Given the description of an element on the screen output the (x, y) to click on. 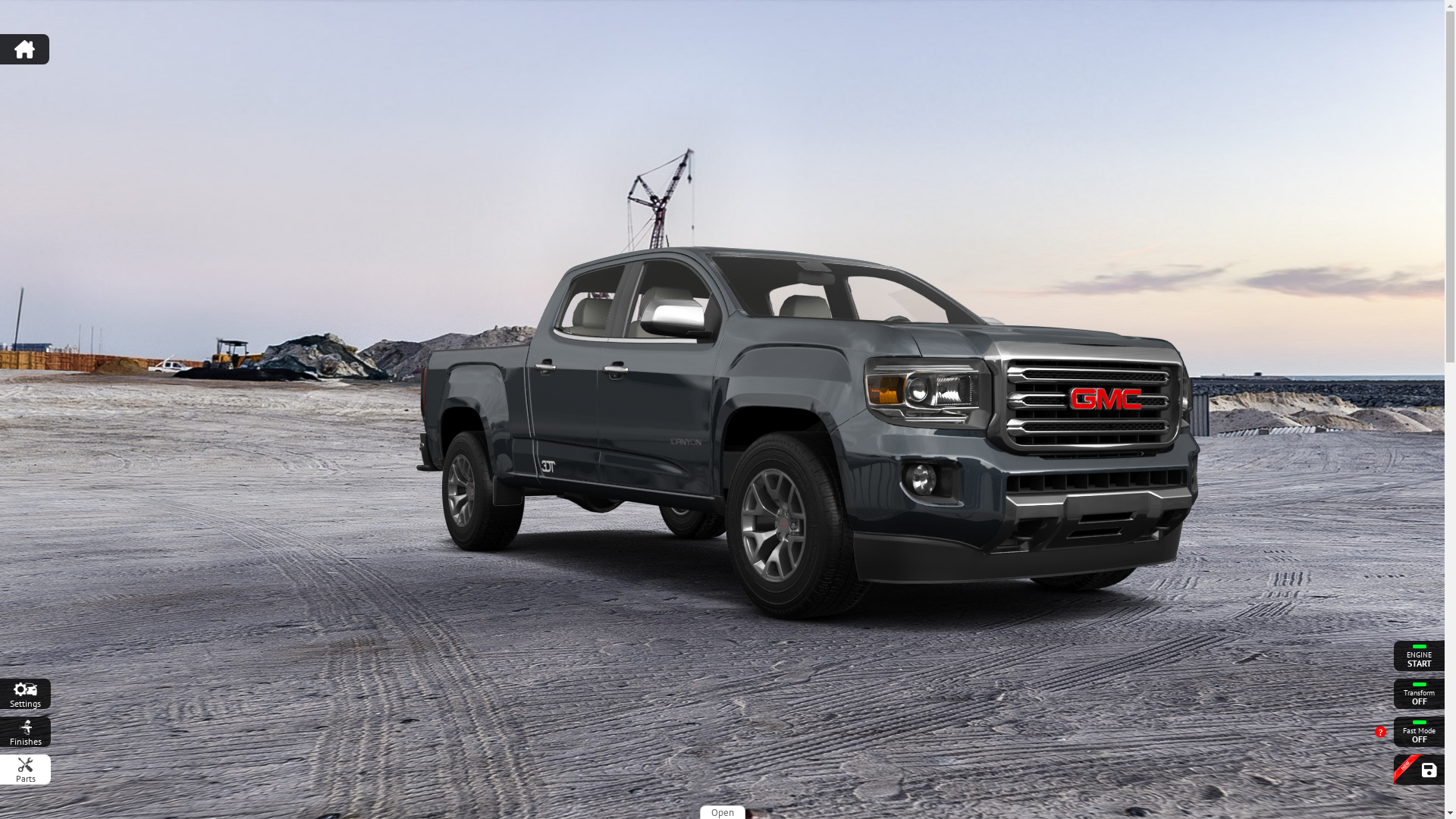
Advertisement Element type: hover (722, 41)
